Given the description of an element on the screen output the (x, y) to click on. 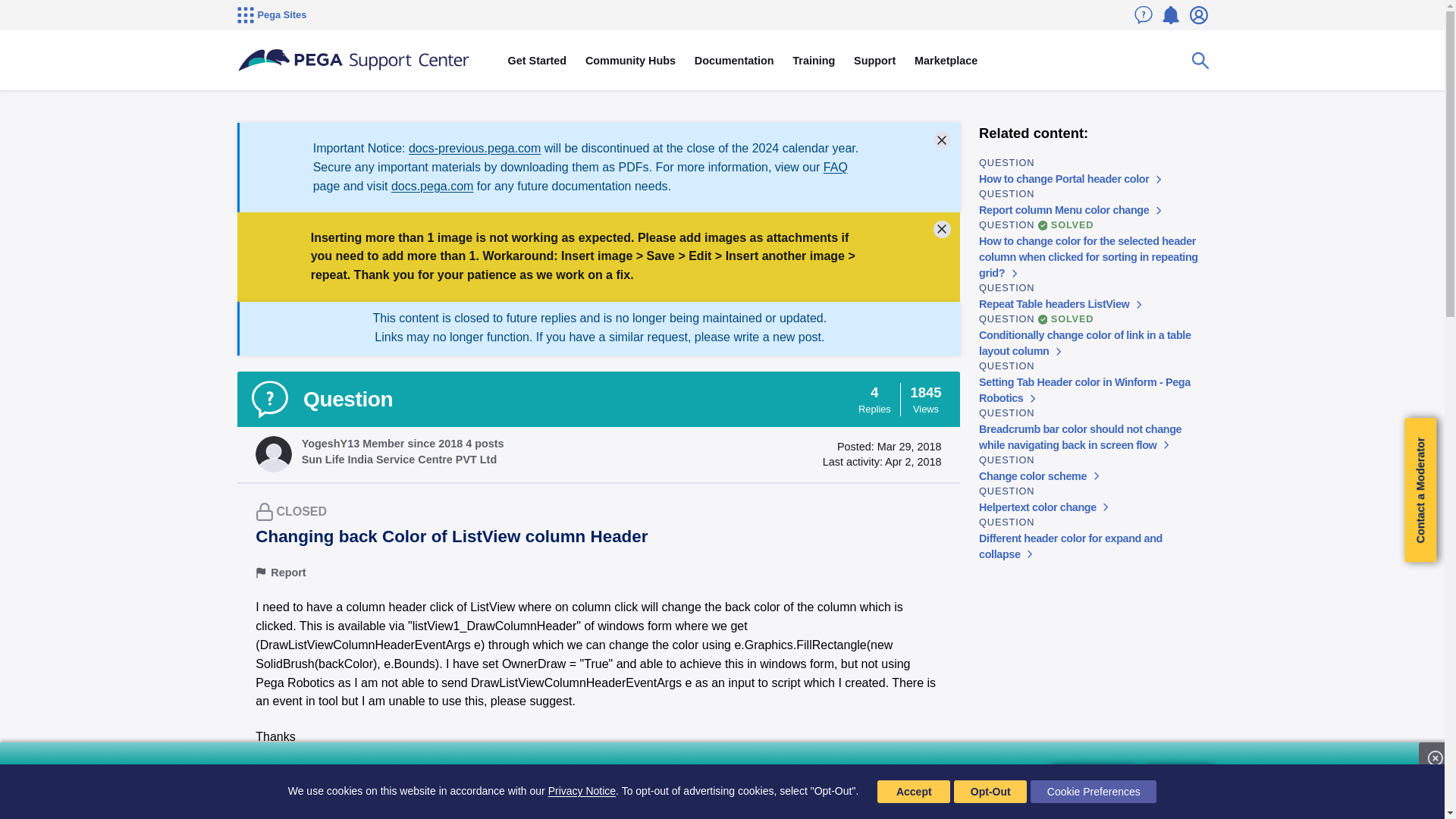
Get Started (536, 60)
Toggle Search Panel (1200, 60)
Community Hubs (630, 60)
